Given the description of an element on the screen output the (x, y) to click on. 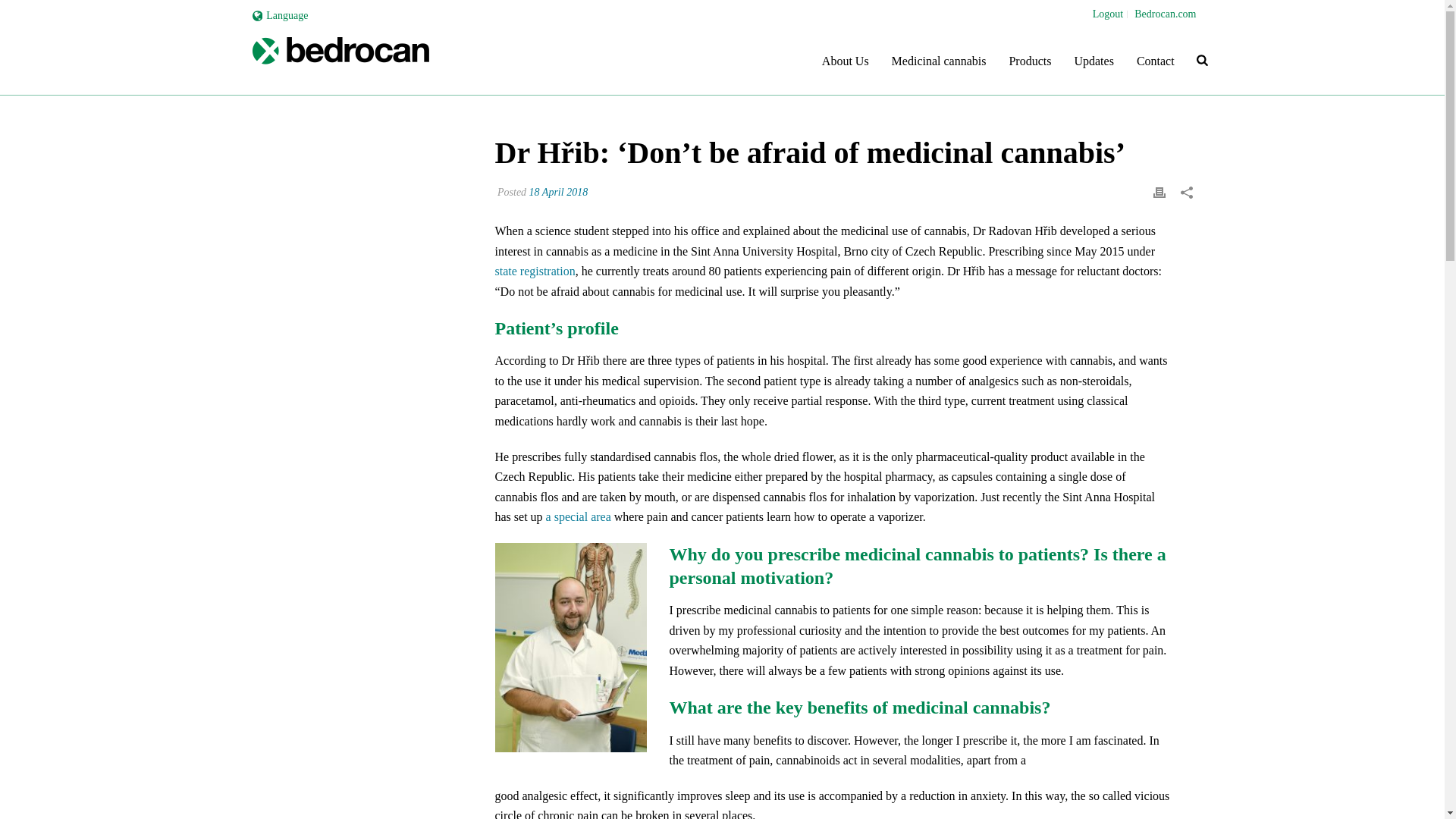
Products (1029, 61)
Contact (1155, 61)
Medicinal cannabis (938, 61)
Products (1029, 61)
Bedrocan.com (1165, 14)
Updates (1093, 61)
medicinal cannabis (339, 60)
Logout (1107, 14)
Contact (1155, 61)
Medicinal cannabis (938, 61)
